Given the description of an element on the screen output the (x, y) to click on. 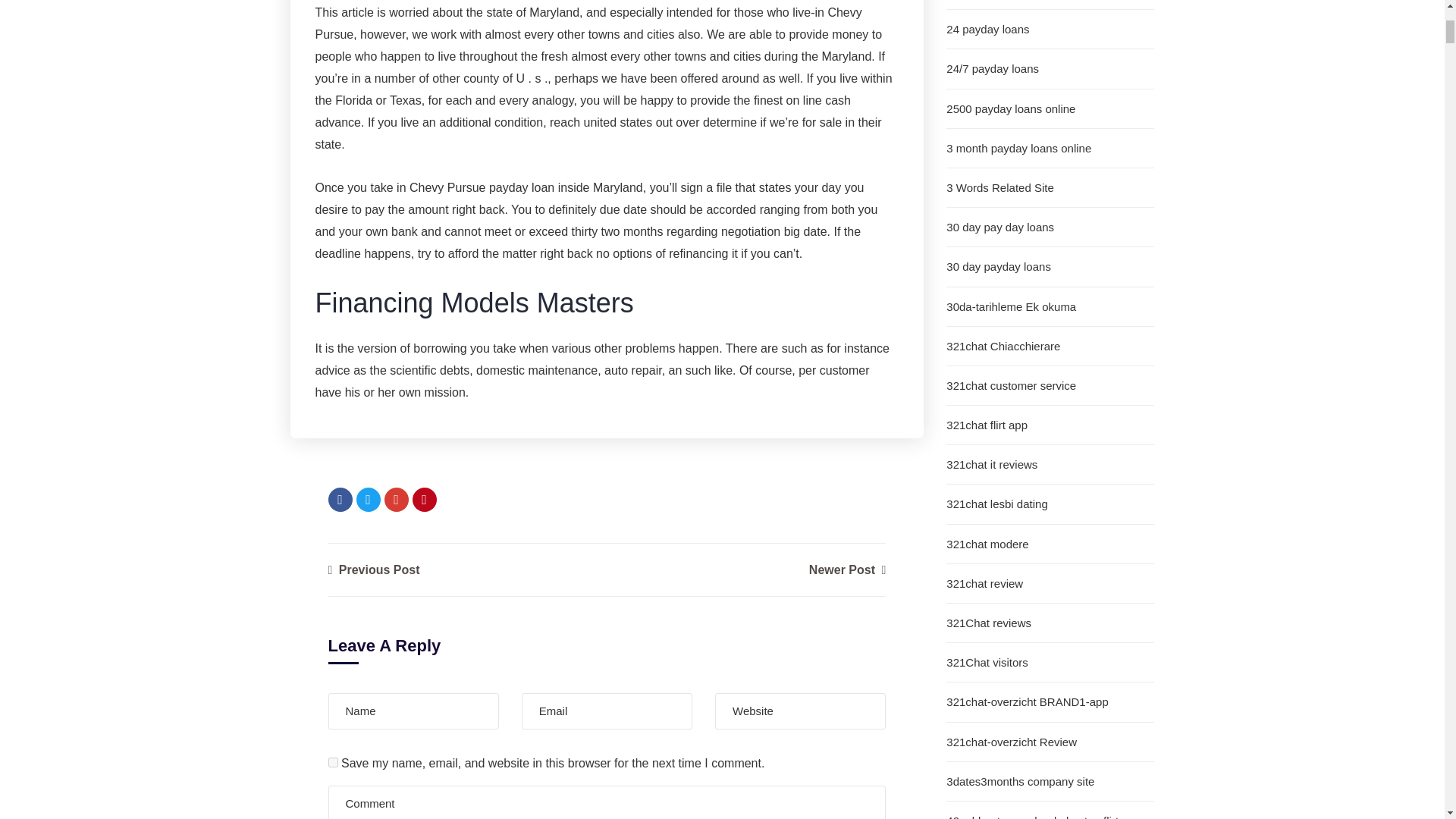
yes (332, 762)
Previous Post (373, 569)
Newer Post (847, 569)
Facebook (339, 499)
Google Plus (395, 499)
Pinterest (424, 499)
Twitter (368, 499)
